Given the description of an element on the screen output the (x, y) to click on. 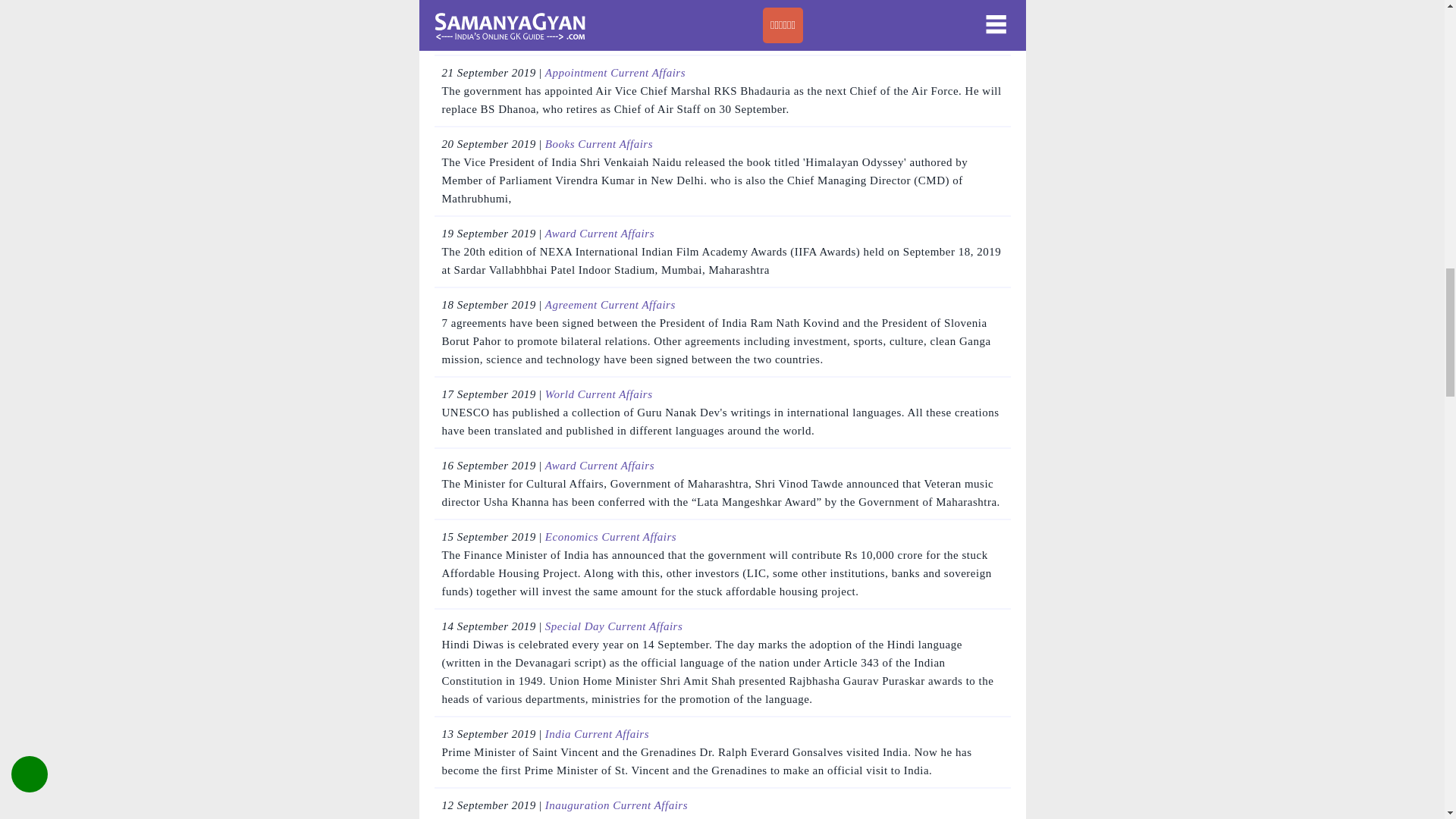
Books Current Affairs (598, 143)
Special Day Current Affairs (613, 625)
Appointment Current Affairs (614, 72)
World Current Affairs (598, 394)
Inauguration Current Affairs (615, 805)
India Current Affairs (596, 734)
Agreement Current Affairs (609, 304)
Economics Current Affairs (610, 536)
Agreement Current Affairs (609, 3)
Award Current Affairs (598, 233)
